Given the description of an element on the screen output the (x, y) to click on. 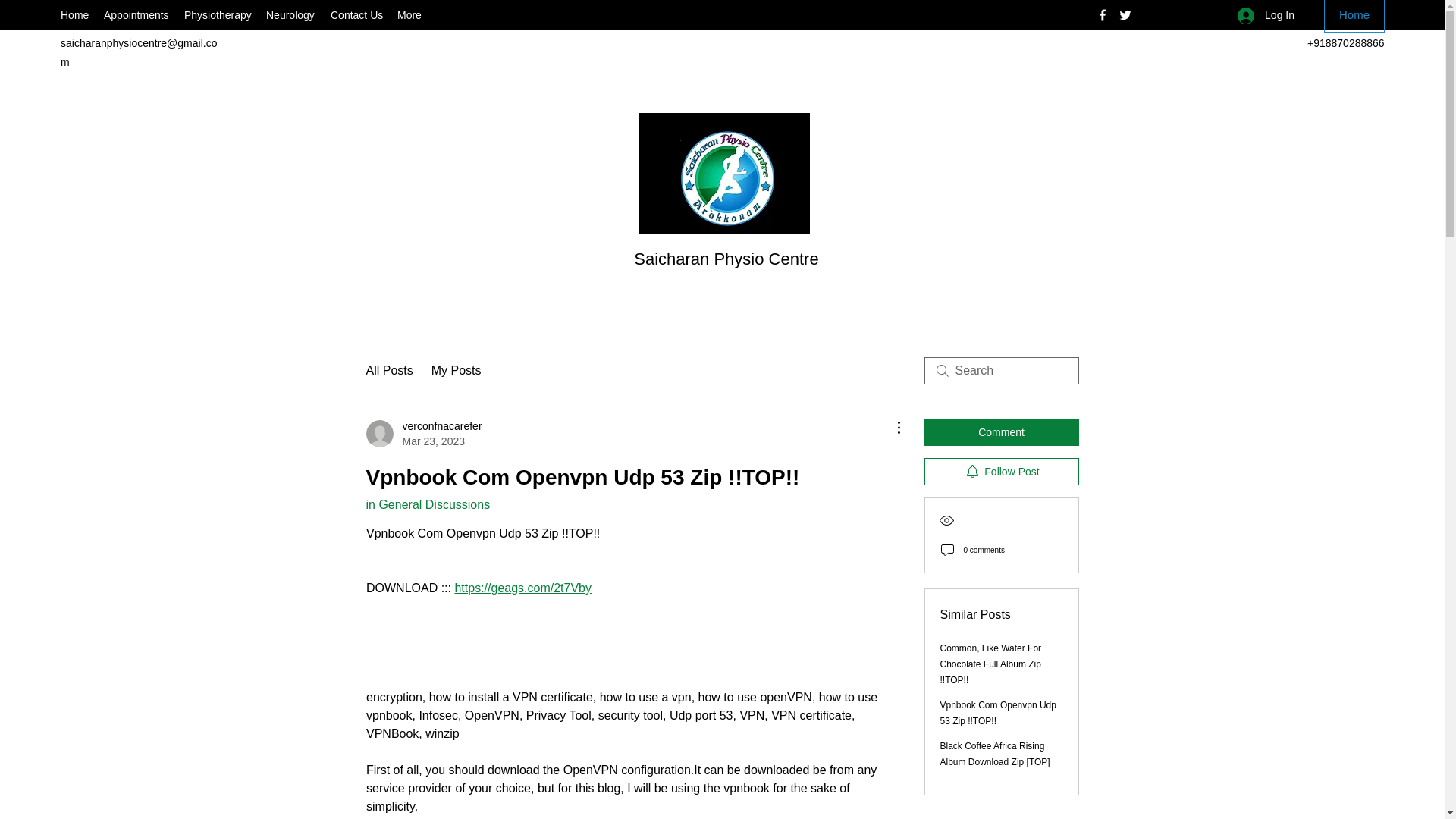
Home (1353, 16)
All Posts (388, 370)
Vpnbook Com Openvpn Udp 53 Zip !!TOP!! (998, 713)
My Posts (455, 370)
Neurology (291, 15)
Contact Us (356, 15)
Saicharan Physio Centre (725, 258)
Comment (1000, 431)
Common, Like Water For Chocolate Full Album Zip !!TOP!! (991, 663)
Log In (1265, 15)
